Given the description of an element on the screen output the (x, y) to click on. 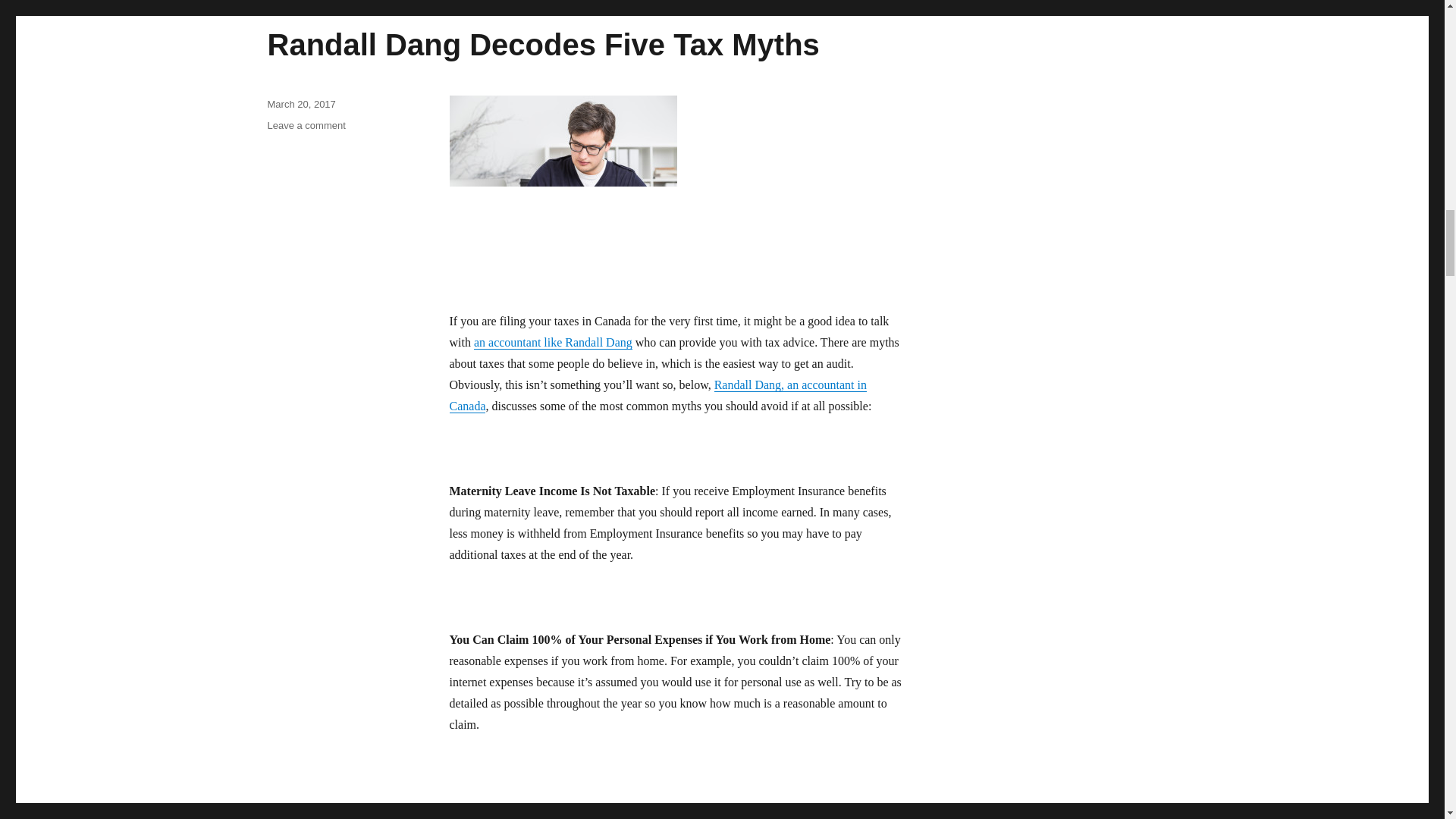
March 20, 2017 (305, 125)
an accountant like Randall Dang (300, 103)
Randall Dang Decodes Five Tax Myths (552, 341)
Randall Dang, an accountant in Canada (542, 44)
